Given the description of an element on the screen output the (x, y) to click on. 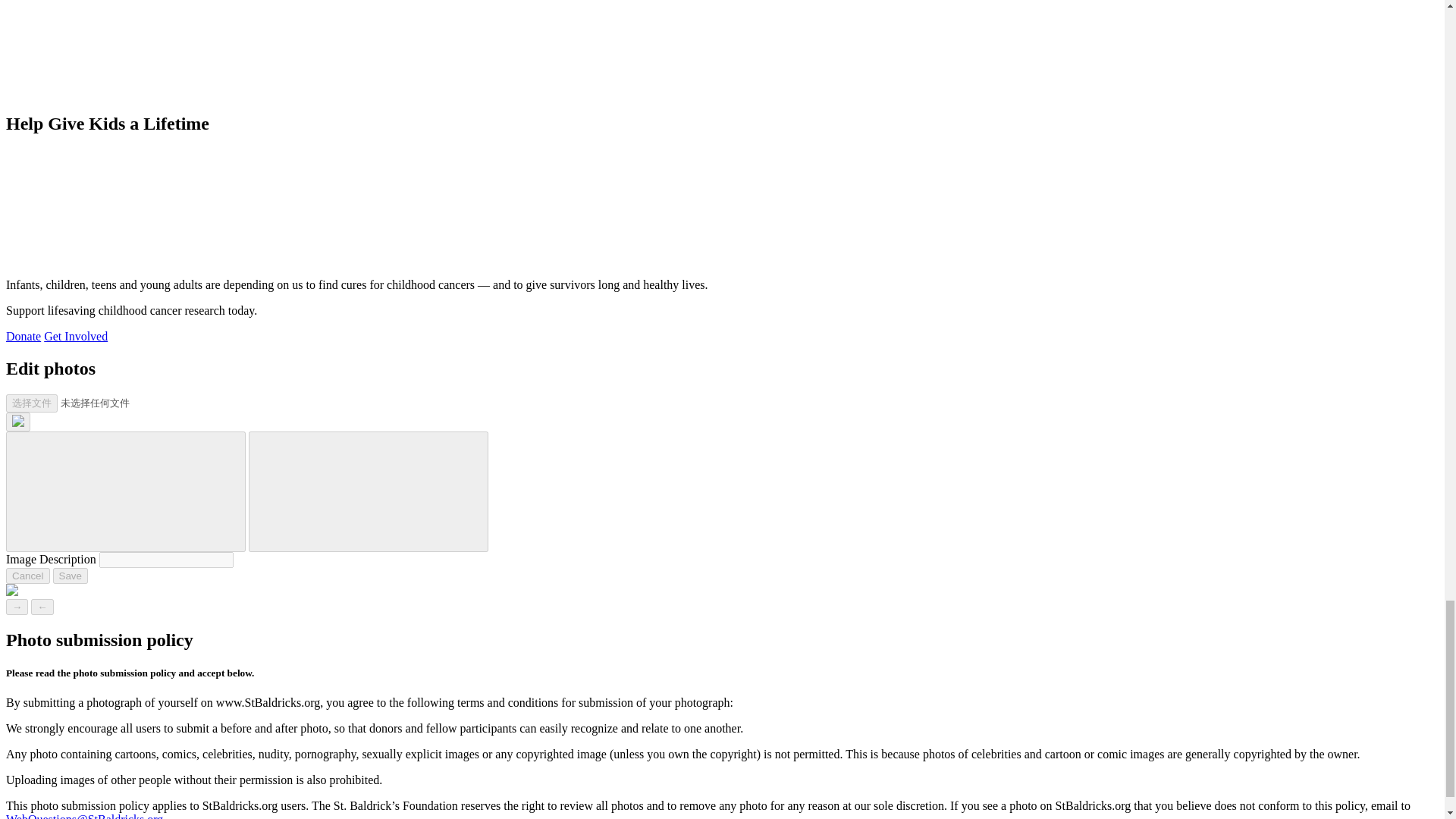
Donate (22, 336)
Cancel (27, 575)
Save (69, 575)
Get Involved (75, 336)
